Given the description of an element on the screen output the (x, y) to click on. 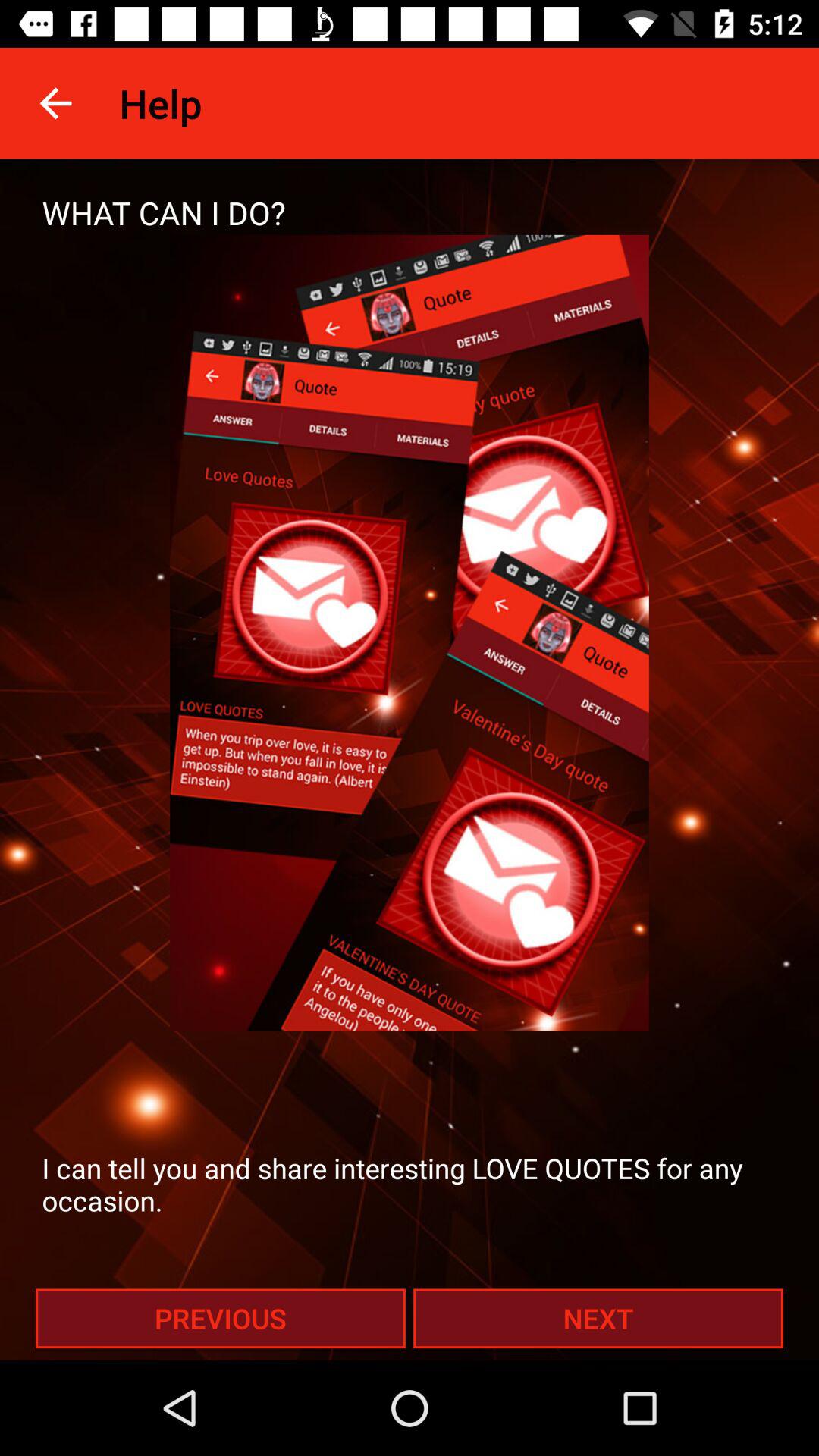
tap icon next to help item (55, 103)
